Given the description of an element on the screen output the (x, y) to click on. 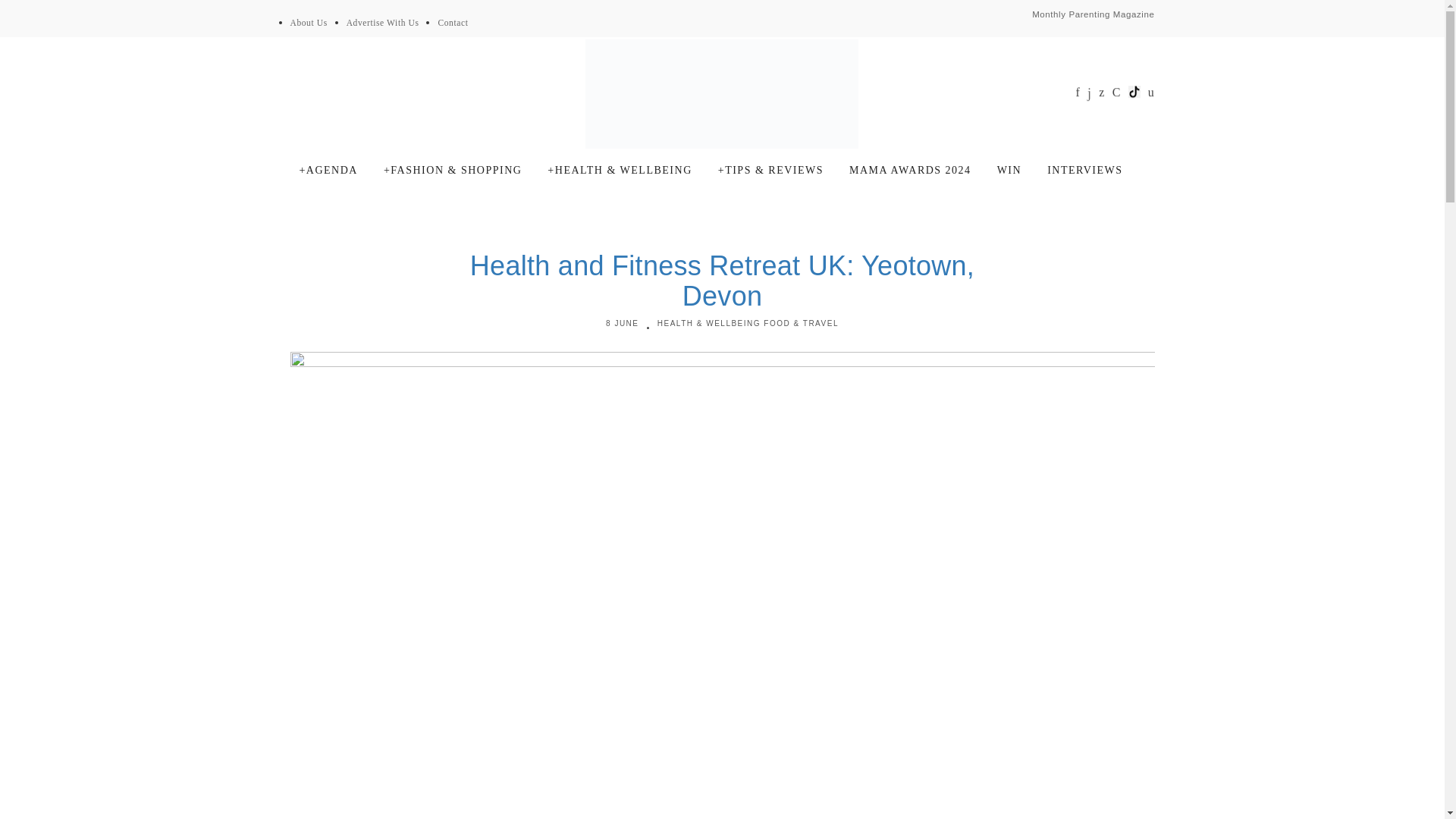
Twitter (1102, 92)
Youtube (1116, 92)
About Us (307, 22)
Contact (452, 22)
TikTok (1134, 91)
Instagram (1089, 93)
Facebook (1077, 92)
Advertise With Us (382, 22)
